Given the description of an element on the screen output the (x, y) to click on. 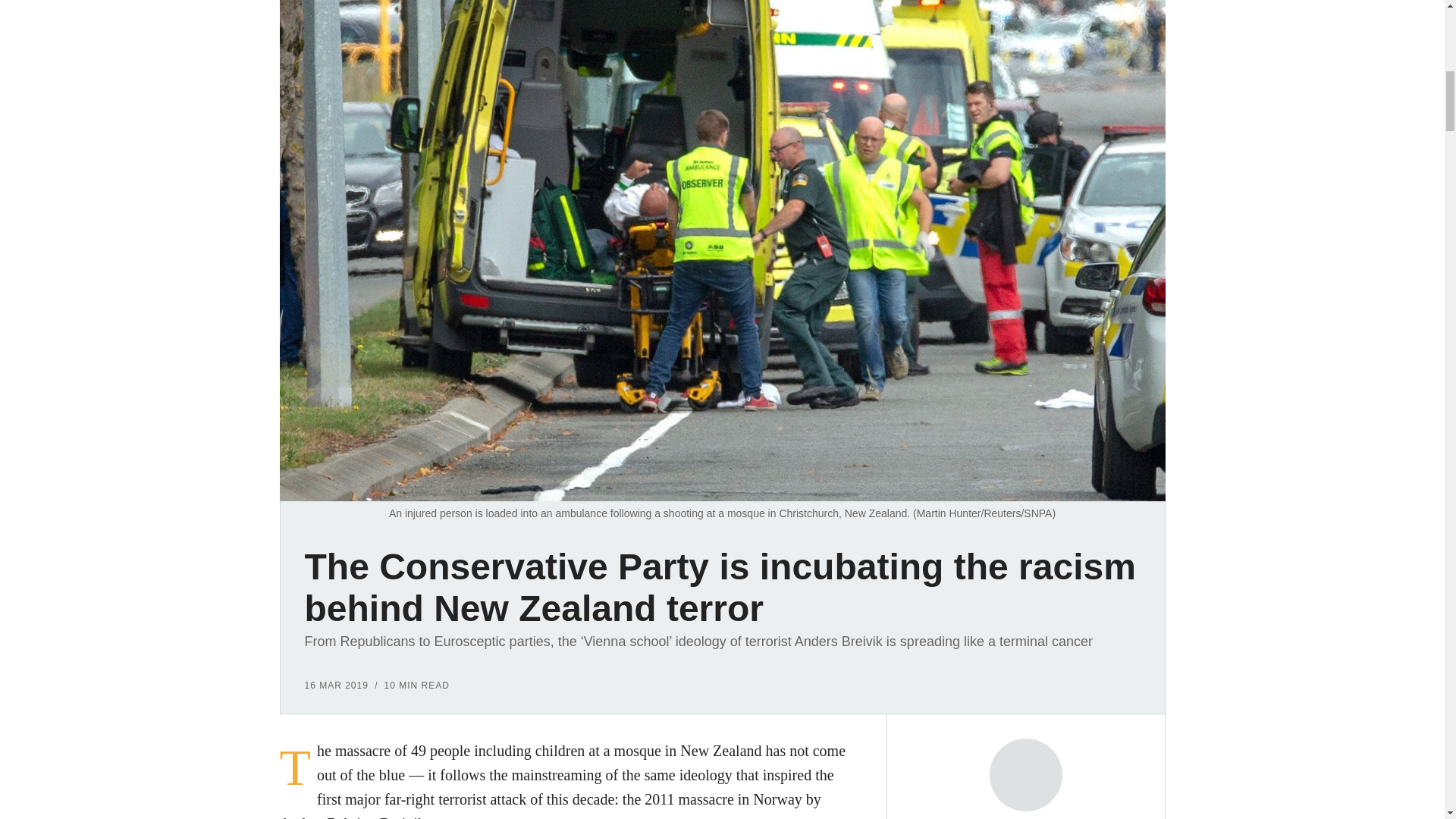
16 March 2019 (336, 685)
